Given the description of an element on the screen output the (x, y) to click on. 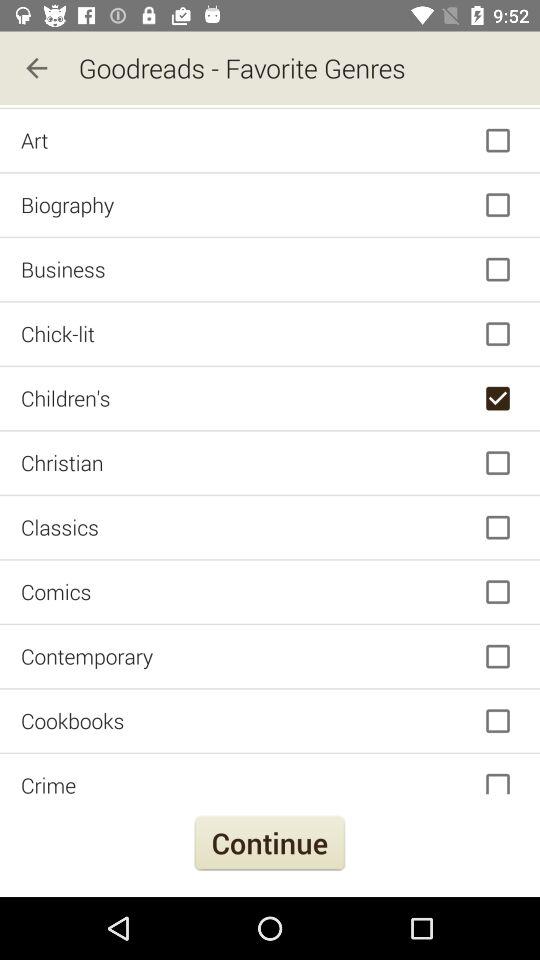
press icon above the chick-lit icon (270, 269)
